Given the description of an element on the screen output the (x, y) to click on. 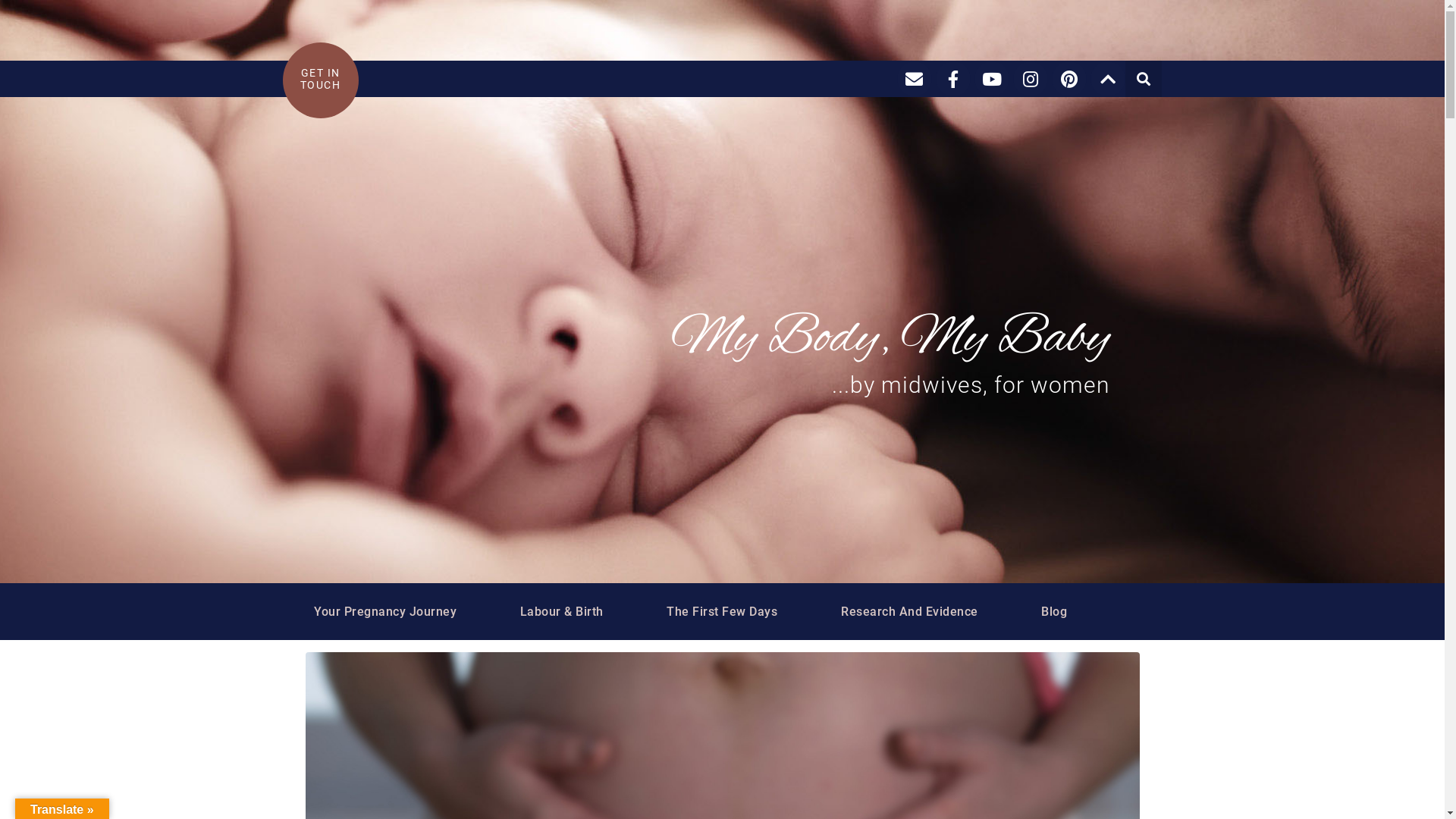
Your Pregnancy Journey Element type: text (384, 611)
GET IN
TOUCH Element type: text (320, 78)
...by midwives, for women Element type: text (969, 384)
Research And Evidence Element type: text (909, 611)
Labour & Birth Element type: text (561, 611)
My Body, My Baby Element type: text (889, 338)
The First Few Days Element type: text (721, 611)
Blog Element type: text (1053, 611)
